Given the description of an element on the screen output the (x, y) to click on. 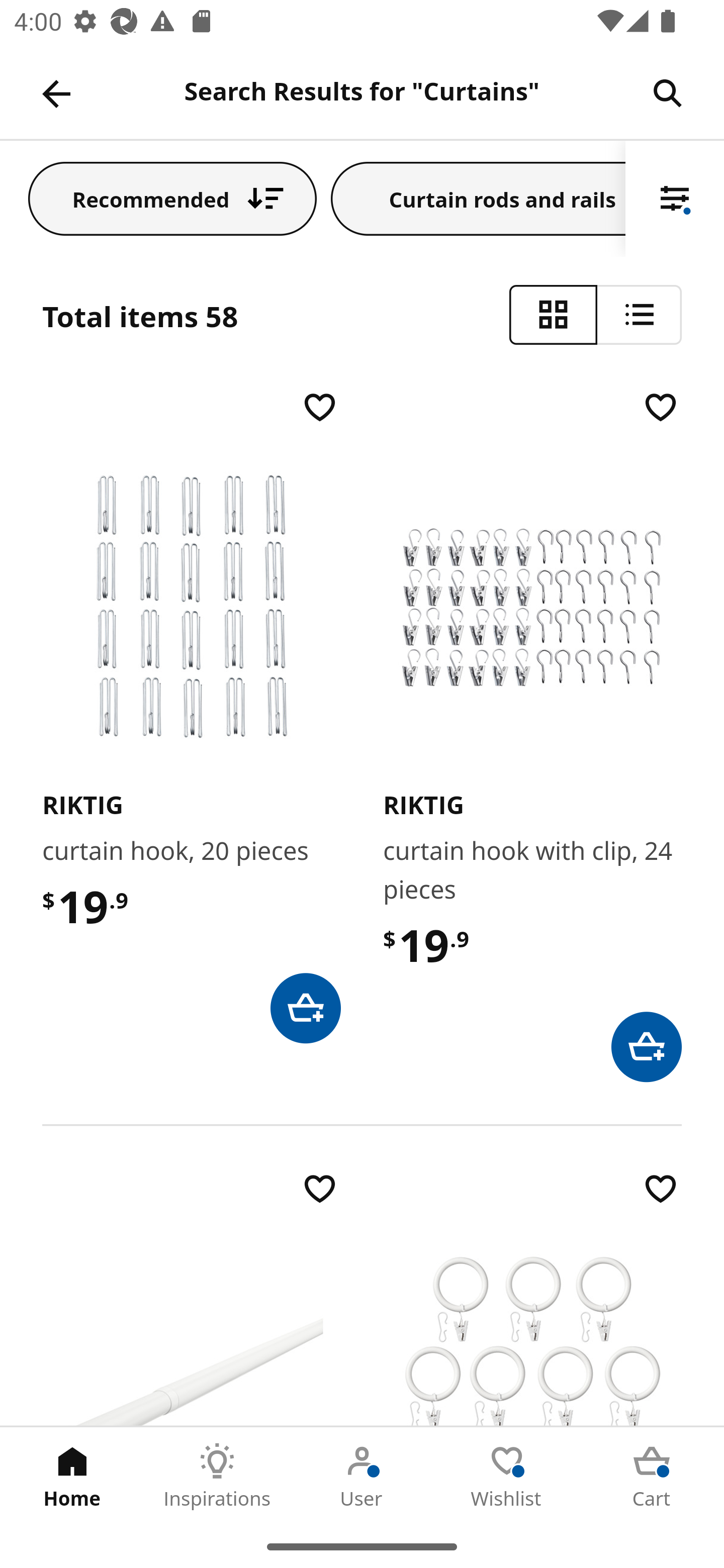
Recommended (172, 198)
Curtain rods and rails (477, 198)
​R​I​K​T​I​G​
curtain hook, 20 pieces
$
19
.9 (191, 714)
Home
Tab 1 of 5 (72, 1476)
Inspirations
Tab 2 of 5 (216, 1476)
User
Tab 3 of 5 (361, 1476)
Wishlist
Tab 4 of 5 (506, 1476)
Cart
Tab 5 of 5 (651, 1476)
